Given the description of an element on the screen output the (x, y) to click on. 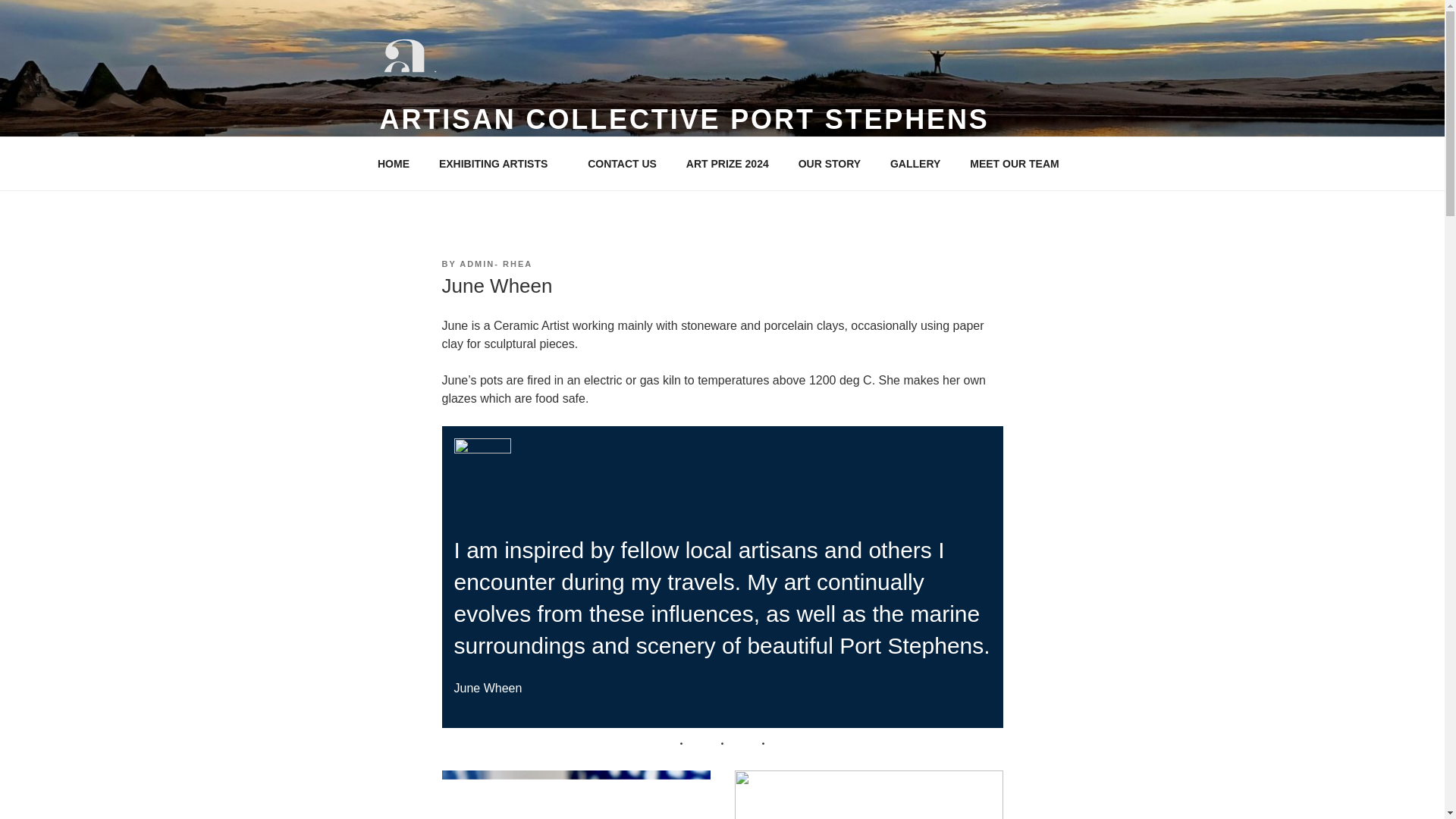
EXHIBITING ARTISTS (497, 163)
CONTACT US (622, 163)
ADMIN- RHEA (496, 263)
OUR STORY (828, 163)
ART PRIZE 2024 (726, 163)
MEET OUR TEAM (1013, 163)
HOME (393, 163)
GALLERY (914, 163)
ARTISAN COLLECTIVE PORT STEPHENS (683, 119)
